Given the description of an element on the screen output the (x, y) to click on. 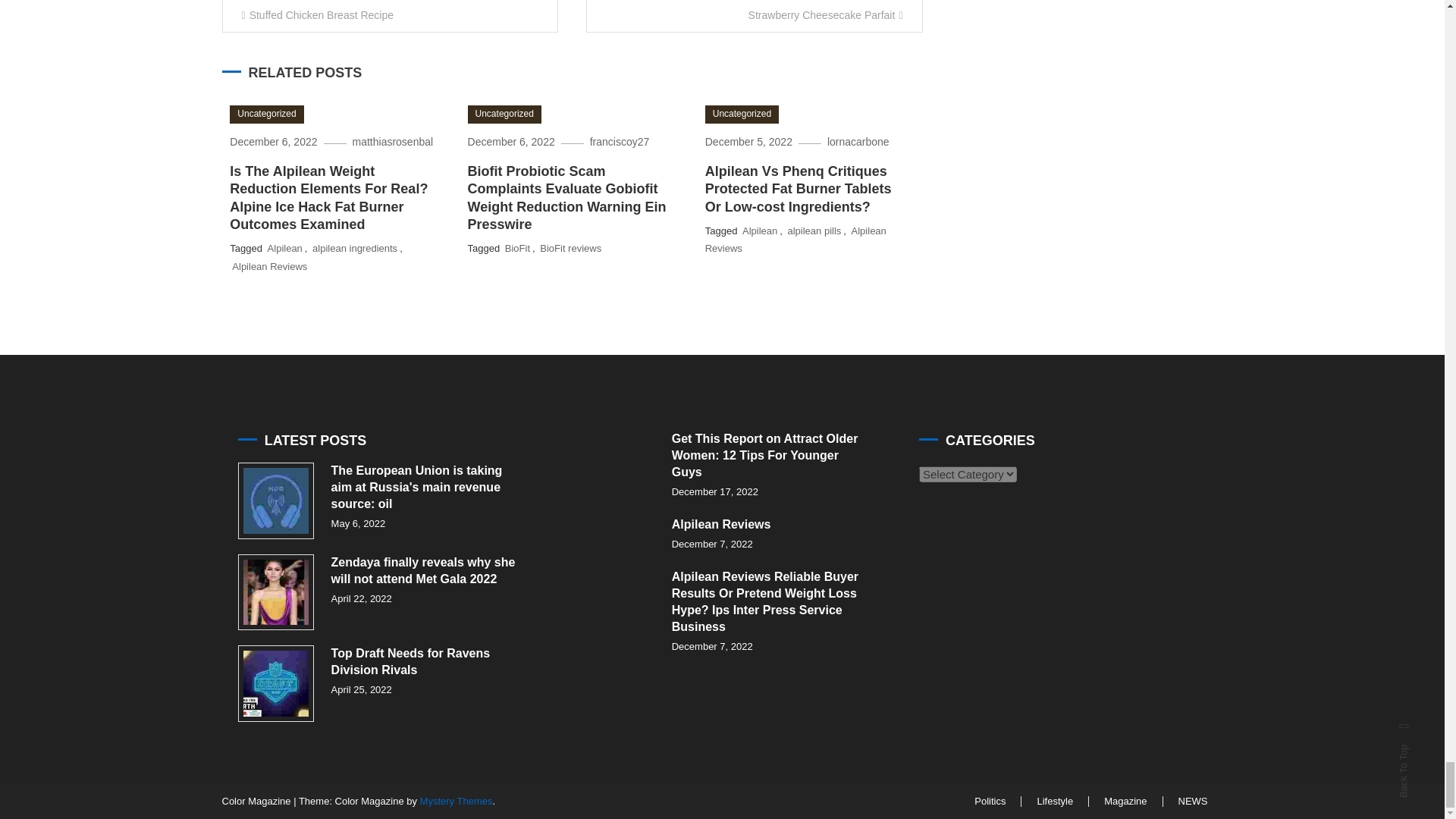
Top Draft Needs for Ravens Division Rivals (276, 683)
